Given the description of an element on the screen output the (x, y) to click on. 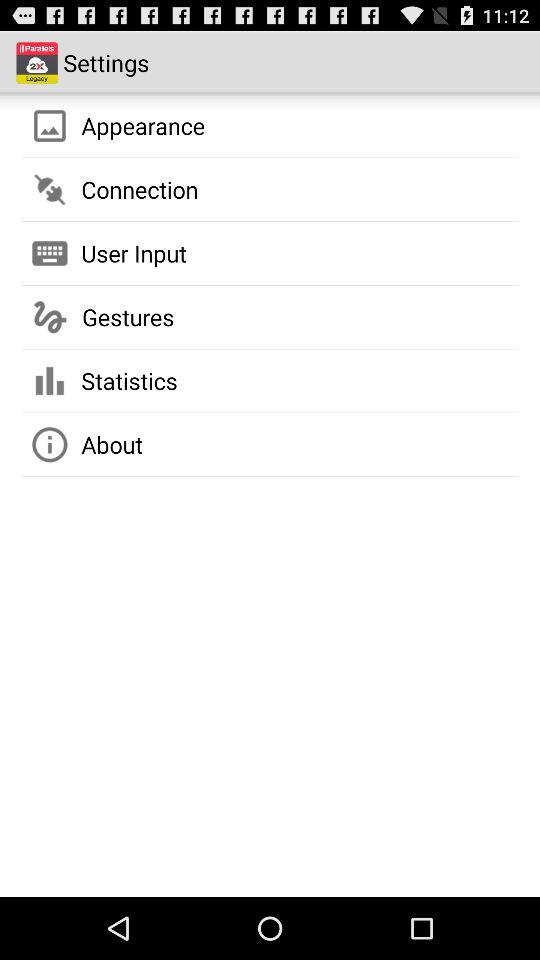
click appearance (143, 125)
